Given the description of an element on the screen output the (x, y) to click on. 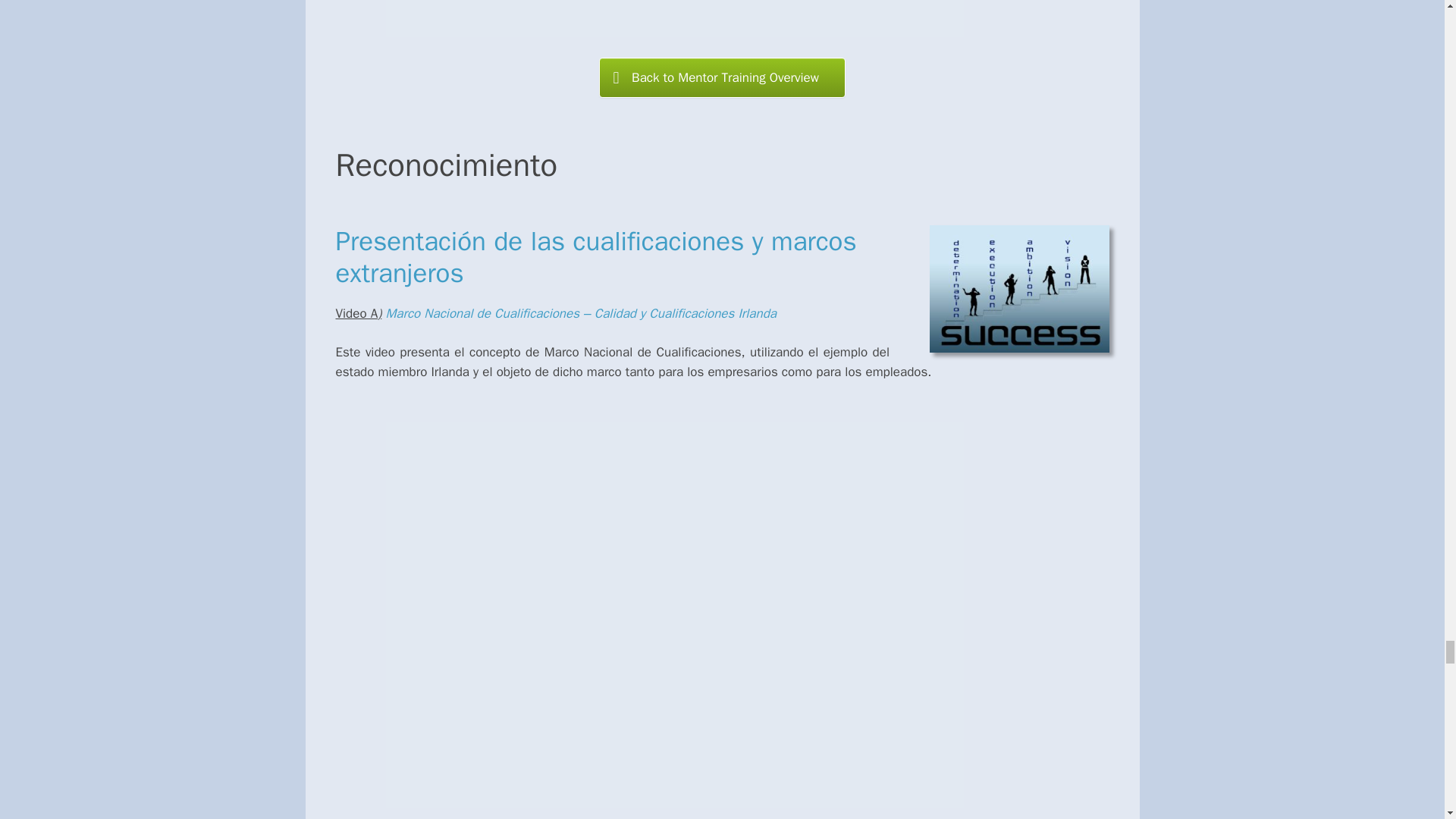
Back to Mentor Training Overview (721, 77)
